Given the description of an element on the screen output the (x, y) to click on. 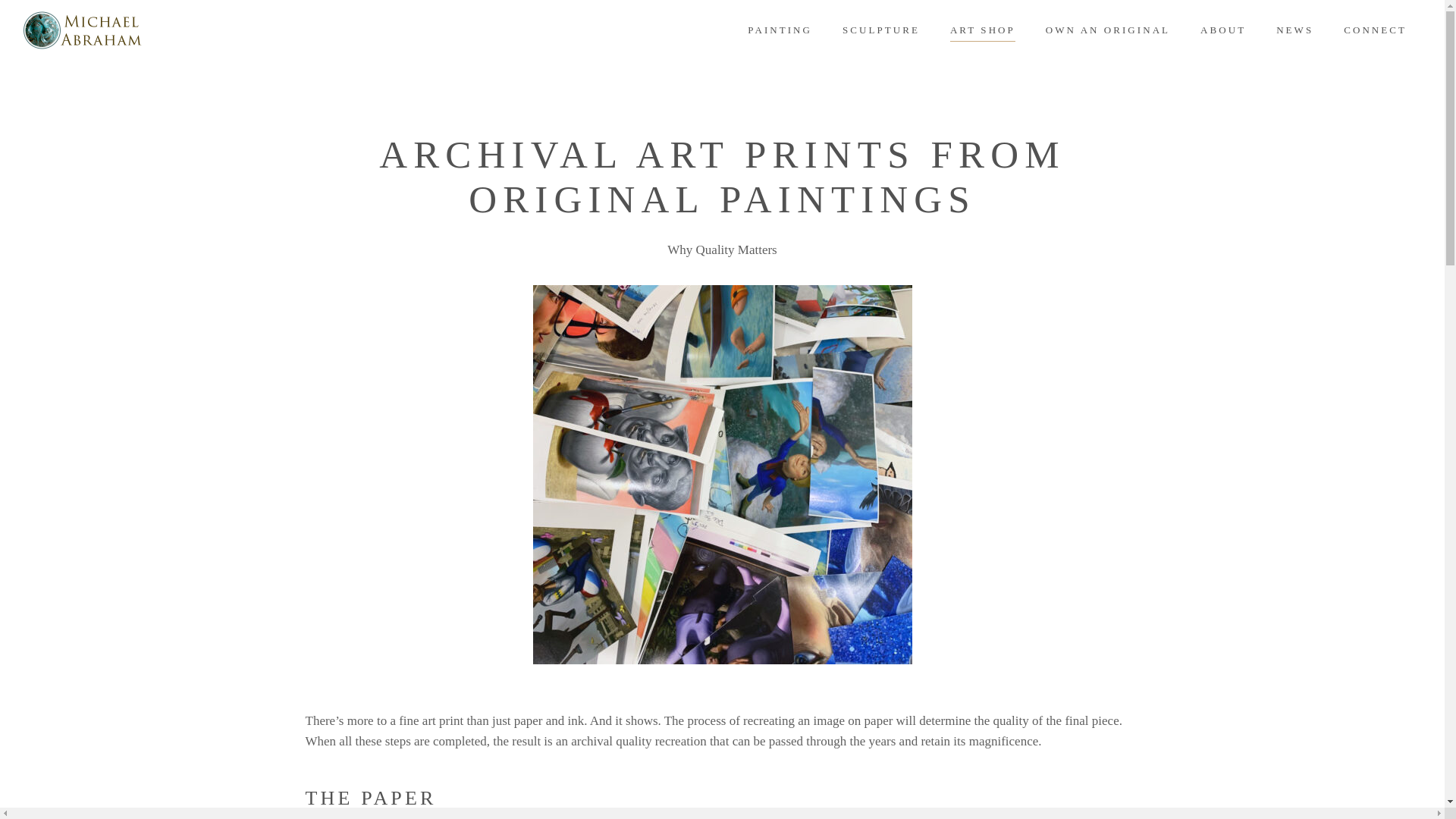
SCULPTURE (880, 29)
PAINTING (779, 29)
NEWS (1293, 29)
ABOUT (1222, 29)
OWN AN ORIGINAL (1107, 29)
ART SHOP (982, 29)
CONNECT (1374, 29)
